Given the description of an element on the screen output the (x, y) to click on. 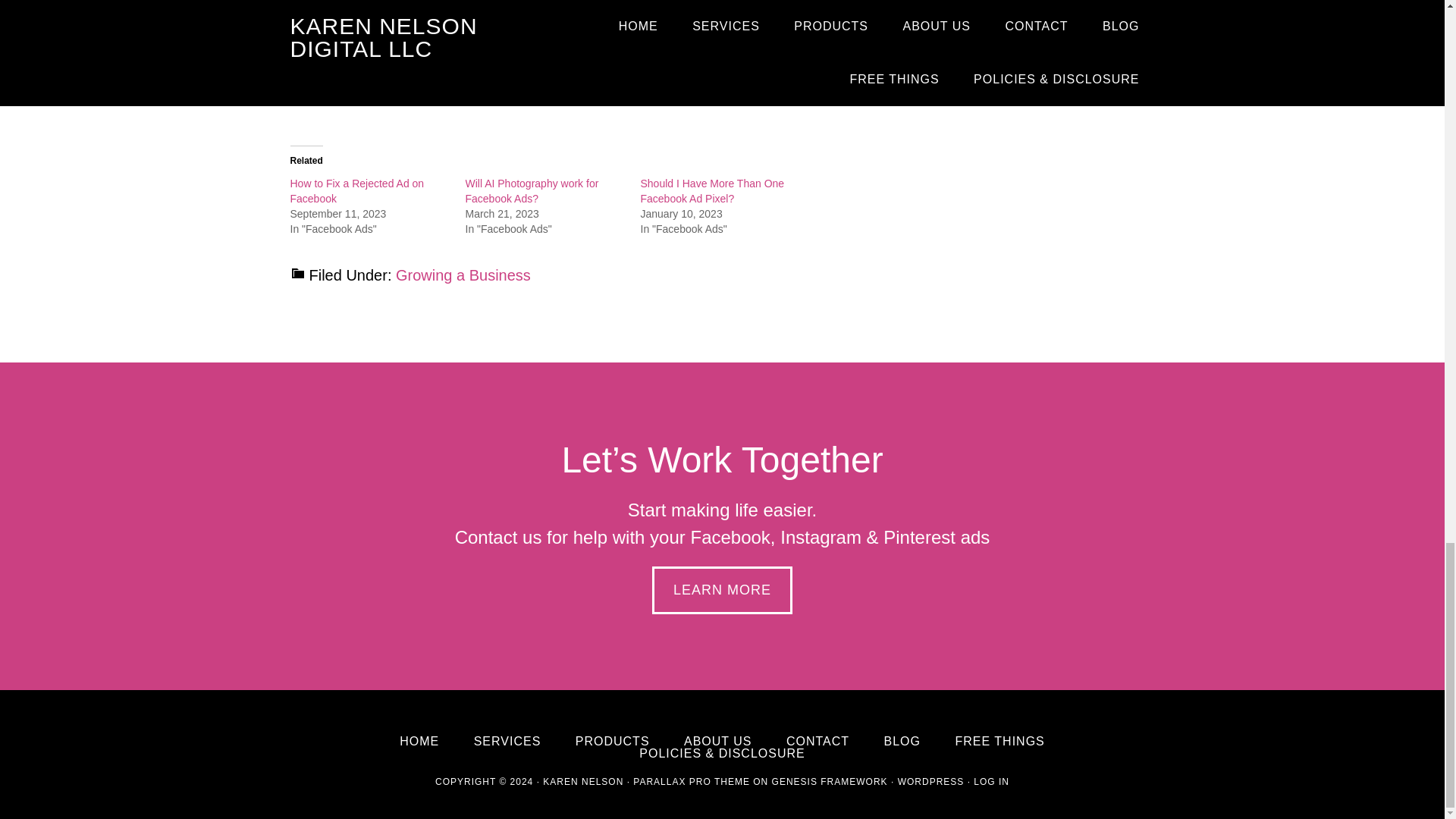
How to Fix a Rejected Ad on Facebook (356, 190)
LEARN MORE (722, 590)
CONTACT (817, 741)
BLOG (901, 741)
PRODUCTS (612, 741)
SERVICES (507, 741)
How to Fix a Rejected Ad on Facebook (356, 190)
Growing a Business (463, 274)
FREE THINGS (999, 741)
DM me on Instagram. (535, 80)
Will AI Photography work for Facebook Ads? (531, 190)
Should I Have More Than One Facebook Ad Pixel?  (712, 190)
Will AI Photography work for Facebook Ads? (531, 190)
HOME (418, 741)
